Given the description of an element on the screen output the (x, y) to click on. 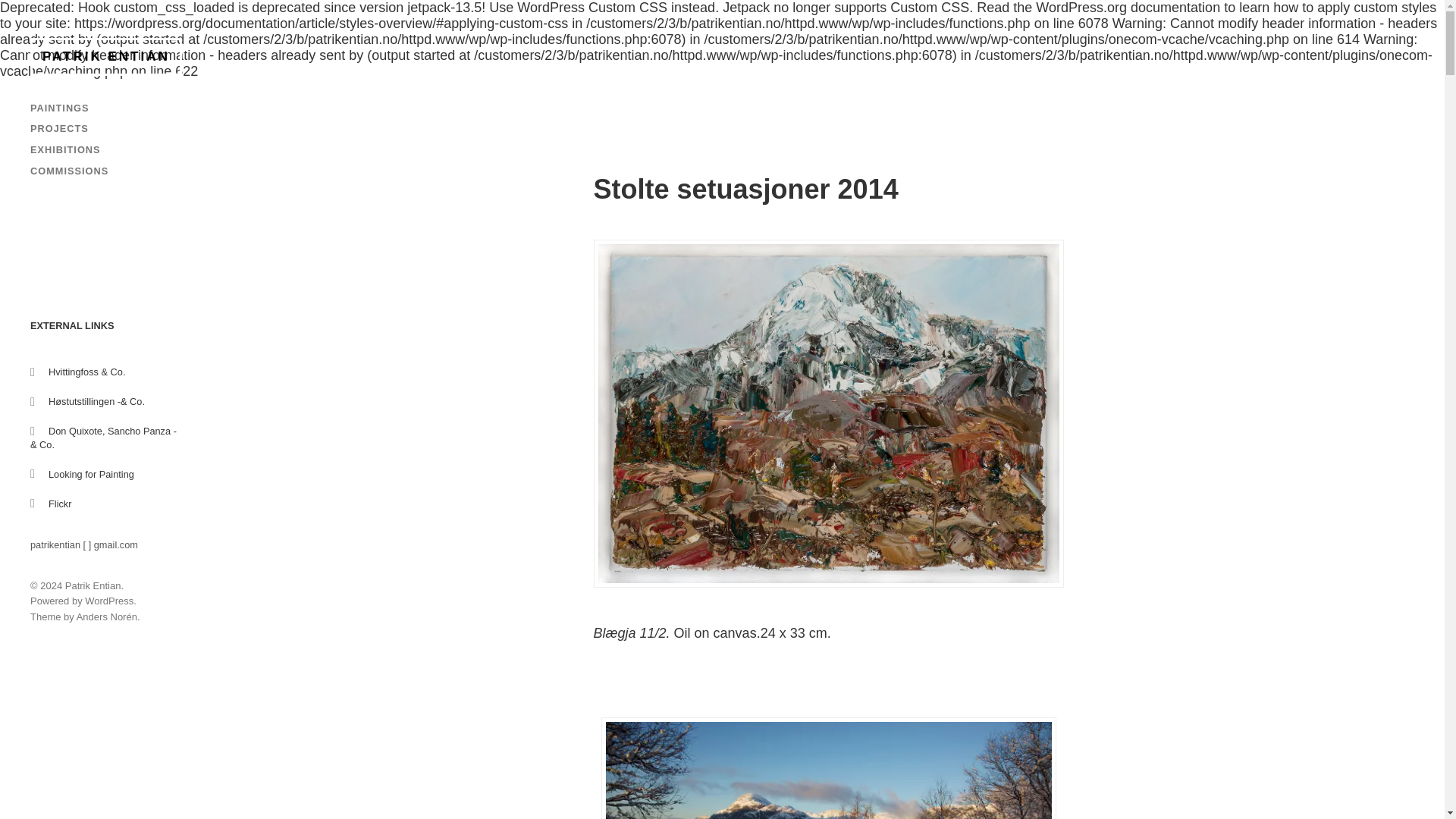
COMMISSIONS (68, 170)
Patrik Entian (92, 585)
Looking for Painting (90, 473)
PAINTINGS (59, 107)
PROJECTS (59, 128)
WordPress (108, 600)
PATRIK ENTIAN (106, 56)
EXHIBITIONS (65, 149)
Flickr (59, 503)
